Given the description of an element on the screen output the (x, y) to click on. 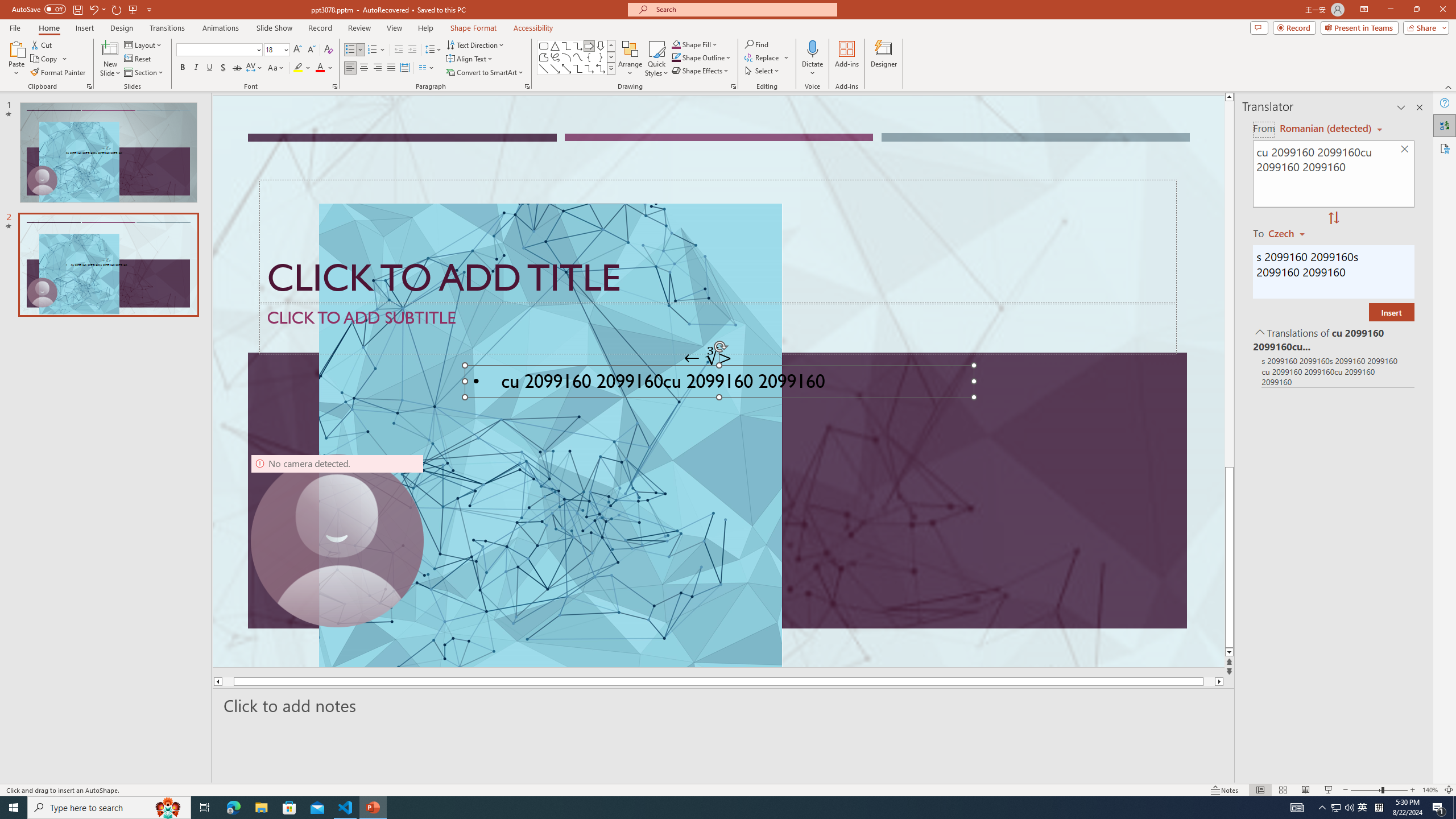
Czech (1291, 232)
